Given the description of an element on the screen output the (x, y) to click on. 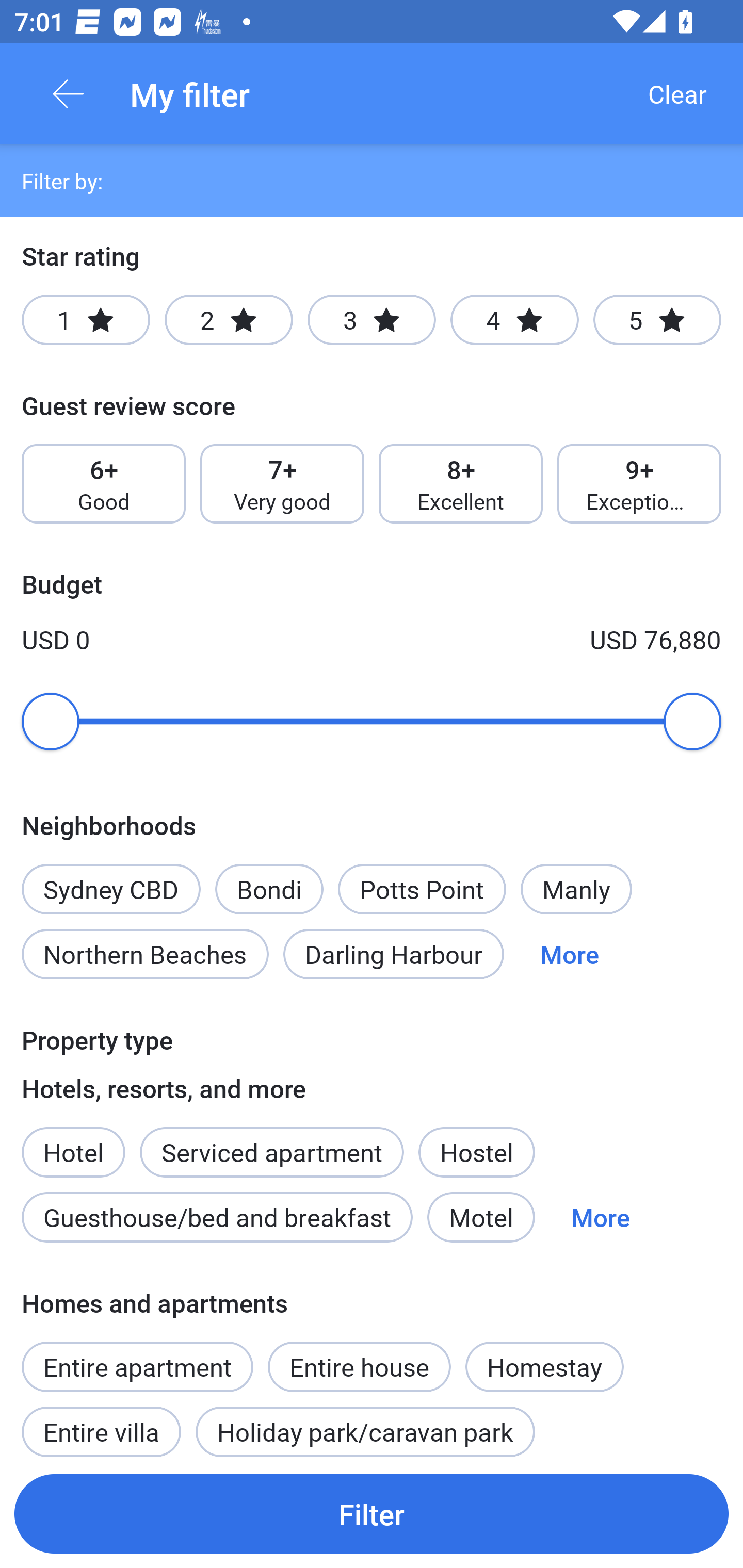
Clear (676, 93)
1 (85, 319)
2 (228, 319)
3 (371, 319)
4 (514, 319)
5 (657, 319)
6+ Good (103, 483)
7+ Very good (281, 483)
8+ Excellent (460, 483)
9+ Exceptional (639, 483)
Sydney CBD (110, 878)
Bondi (269, 888)
Potts Point (421, 888)
Manly (576, 888)
Northern Beaches (144, 954)
Darling Harbour (393, 954)
More (569, 954)
Hotel (73, 1141)
Serviced apartment (271, 1141)
Hostel (476, 1151)
Guesthouse/bed and breakfast (217, 1217)
Motel (480, 1217)
More (600, 1217)
Entire apartment (137, 1366)
Entire house (359, 1356)
Homestay (544, 1366)
Entire villa (101, 1424)
Holiday park/caravan park (364, 1424)
Filter (371, 1513)
